Given the description of an element on the screen output the (x, y) to click on. 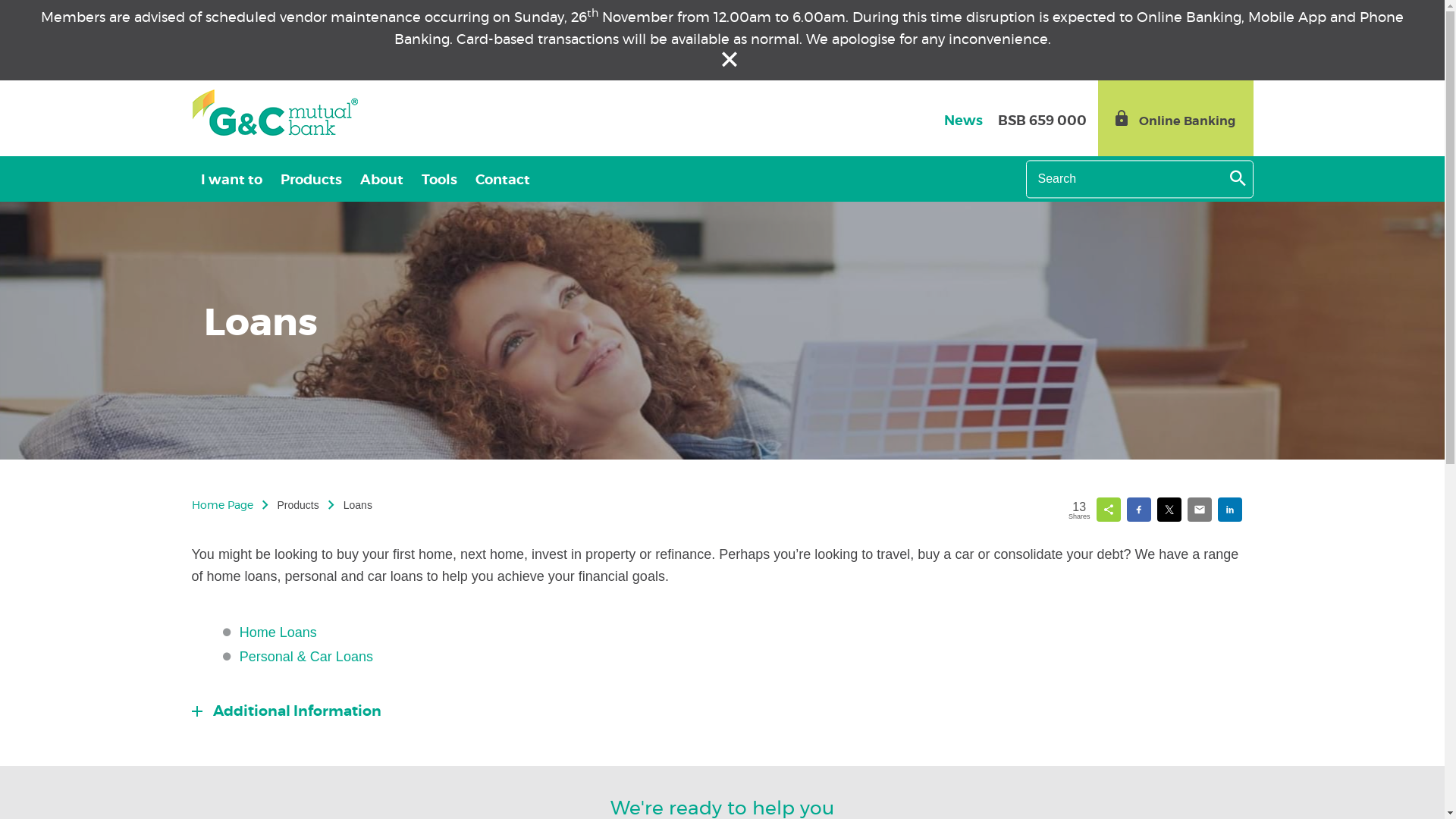
News Element type: text (962, 121)
Online Banking Element type: text (1175, 118)
I want to Element type: text (230, 178)
Additional Information Element type: text (285, 711)
Personal & Car Loans Element type: text (306, 656)
Contact Element type: text (501, 178)
Home Loans Element type: text (277, 632)
Home Page Element type: text (221, 506)
Products Element type: text (311, 178)
Tools Element type: text (439, 178)
About Element type: text (380, 178)
